Given the description of an element on the screen output the (x, y) to click on. 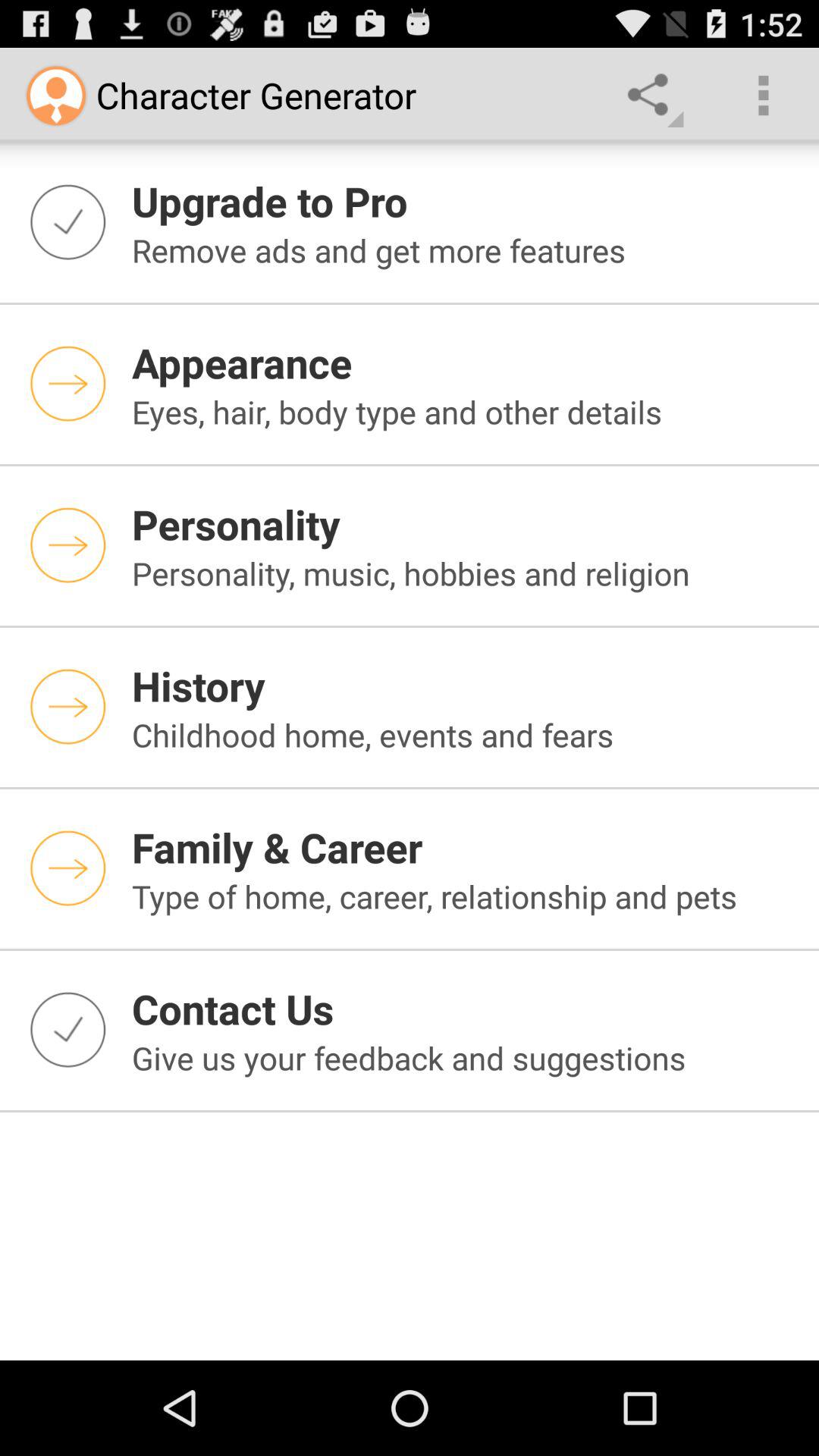
click upgrade to pro app (465, 200)
